Given the description of an element on the screen output the (x, y) to click on. 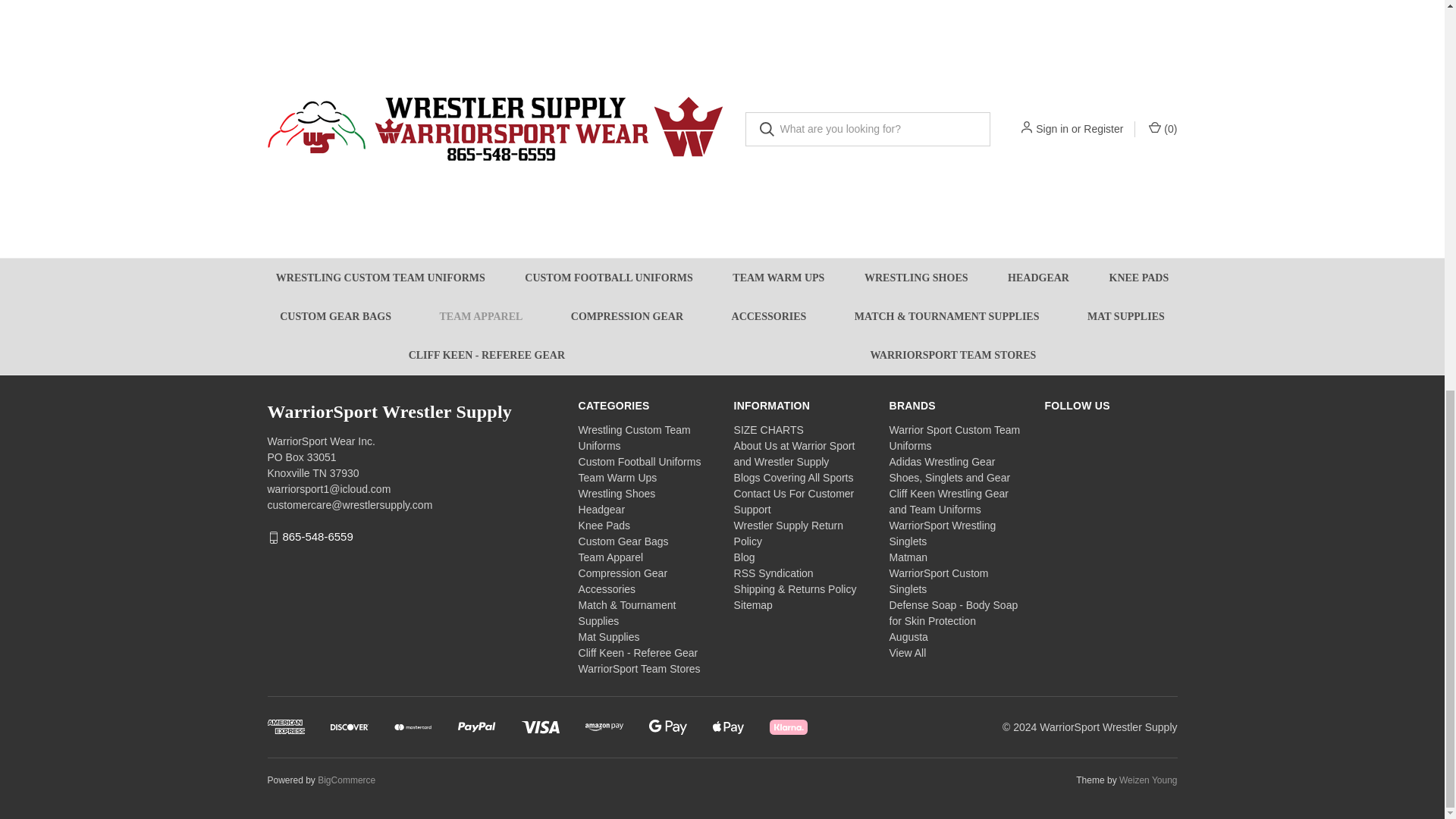
Royal - White Adidas Stock Grappling Shorts aA201s (374, 26)
Subscribe (920, 297)
Matman stock fight short for competition (606, 25)
adidas Stock Competition Shorts (837, 26)
